Given the description of an element on the screen output the (x, y) to click on. 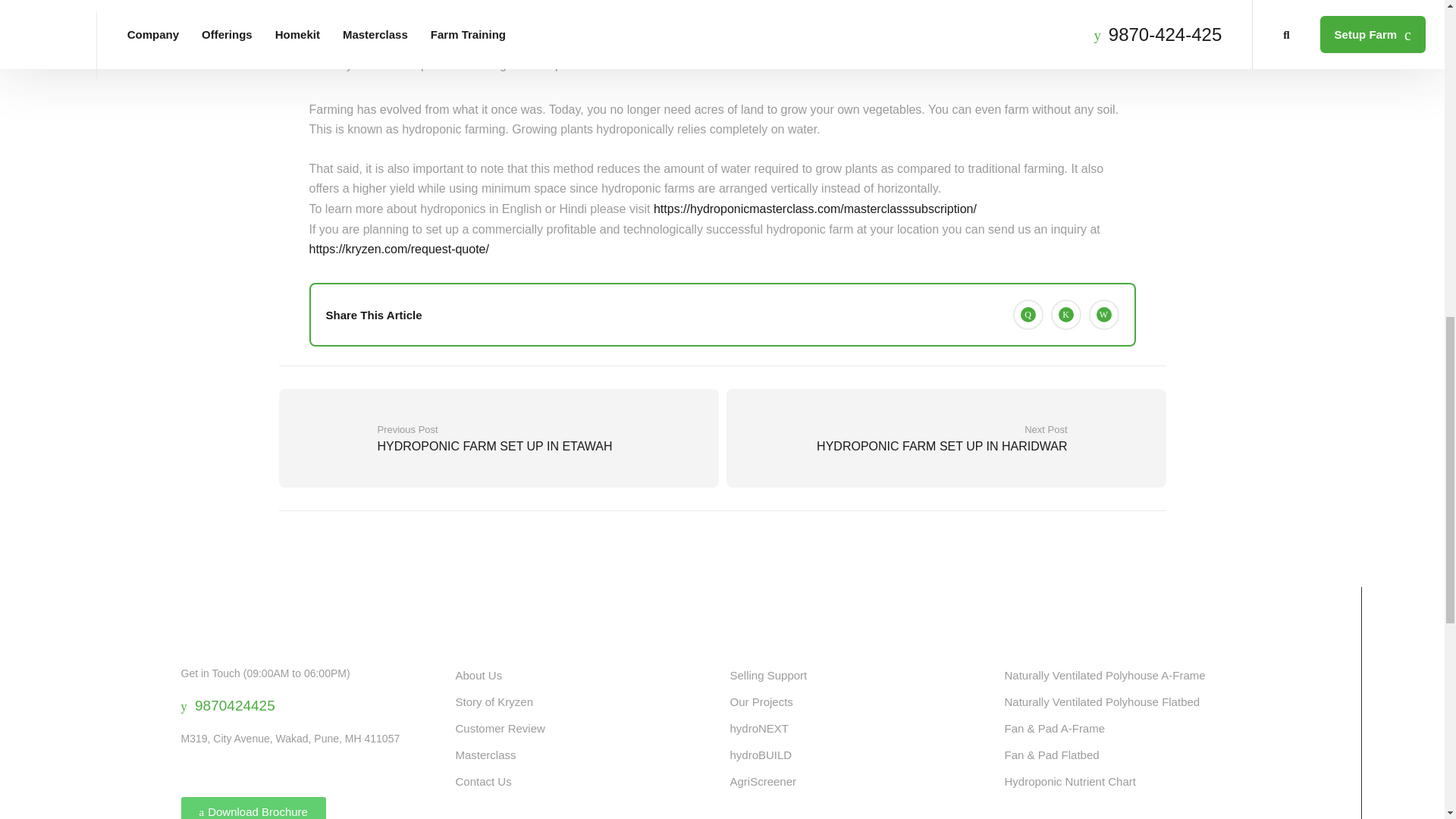
Linkedin (1104, 314)
Twitter (1066, 314)
Facebook (1028, 314)
